Given the description of an element on the screen output the (x, y) to click on. 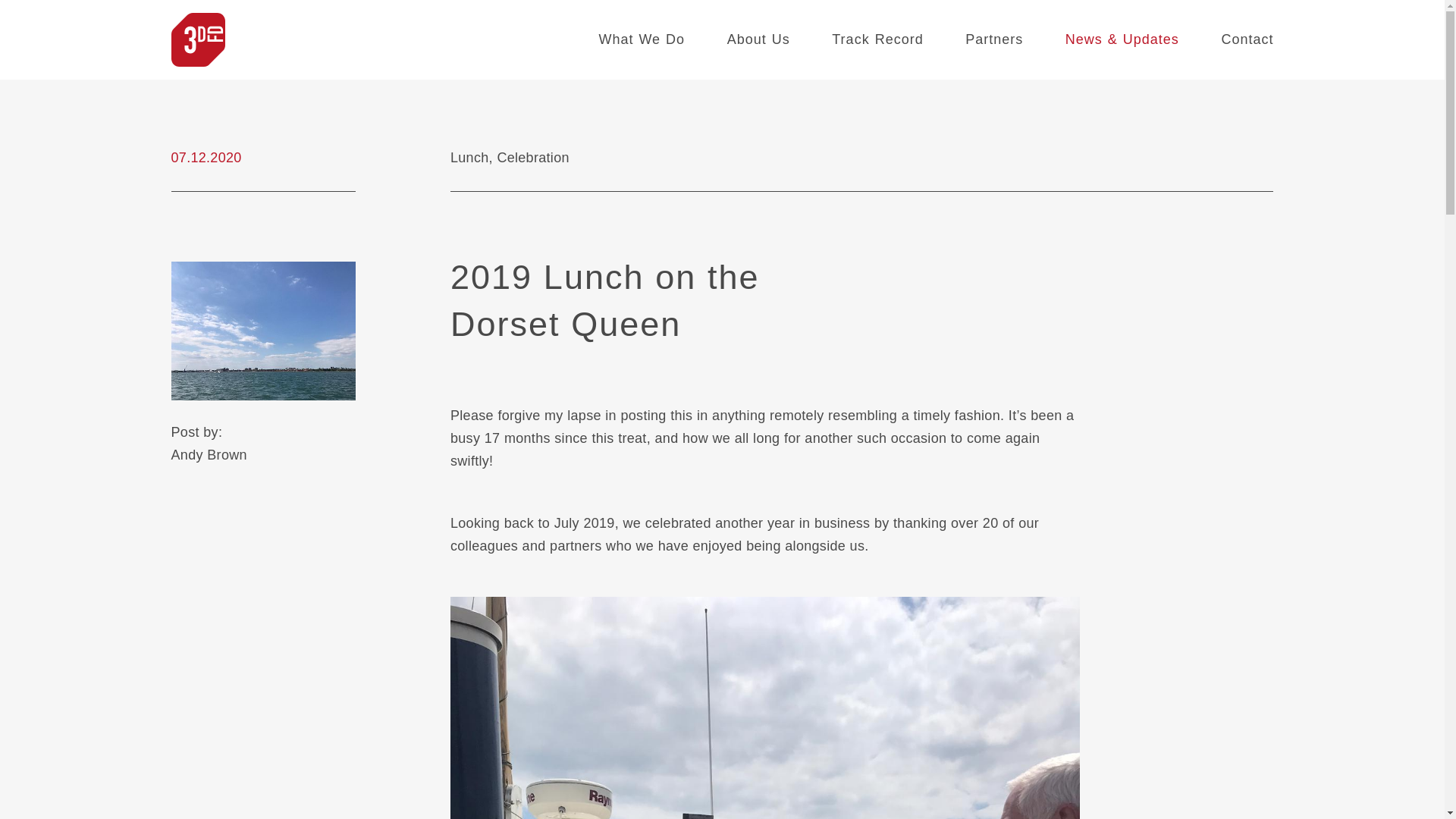
Contact Element type: text (1246, 39)
3DFD Element type: text (198, 39)
About Us Element type: text (758, 39)
What We Do Element type: text (641, 39)
News & Updates Element type: text (1122, 39)
Partners Element type: text (993, 39)
Track Record Element type: text (876, 39)
